Given the description of an element on the screen output the (x, y) to click on. 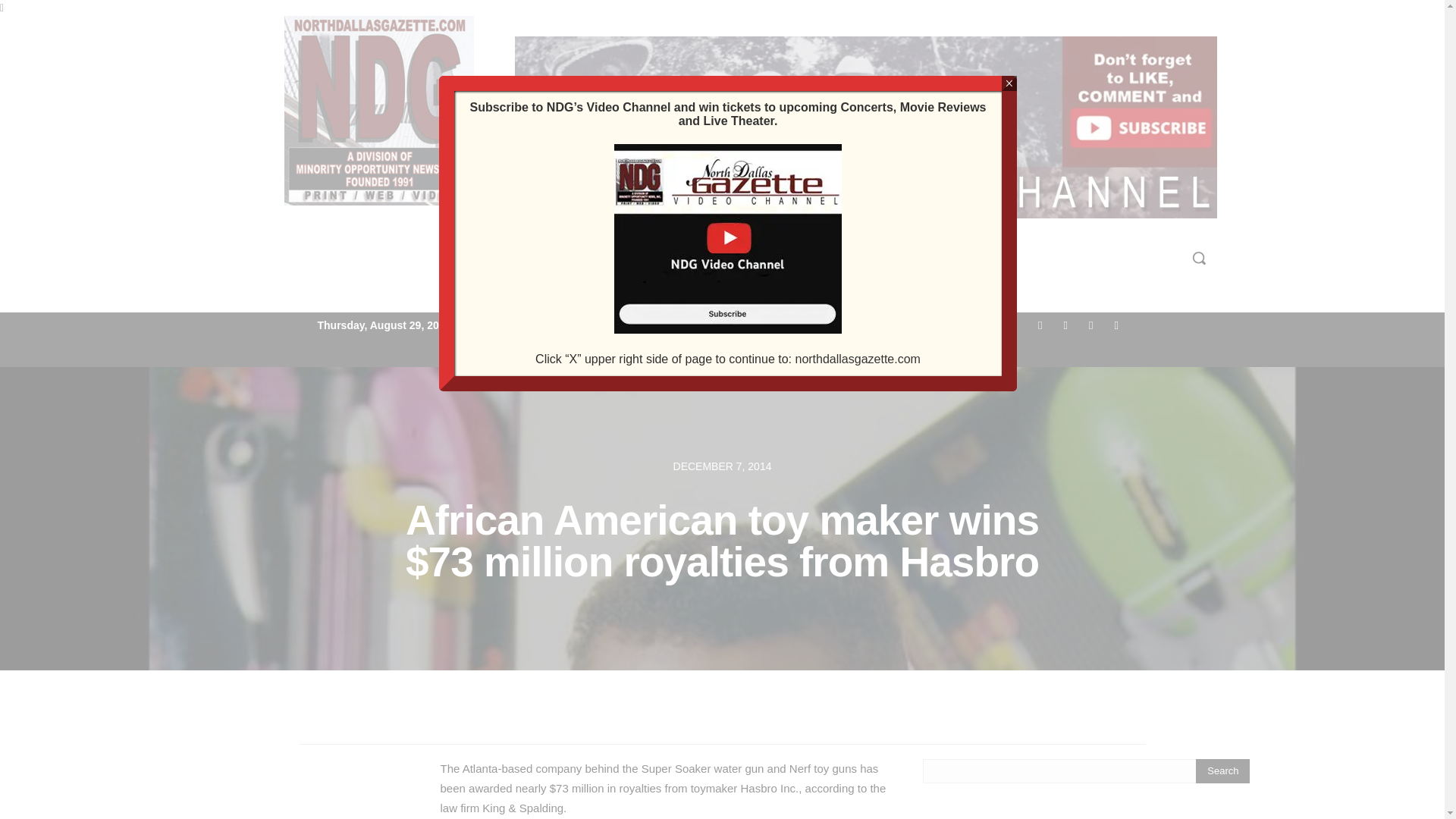
Search (1222, 770)
OBITUARIES (968, 257)
ABOUT US (693, 257)
ARCHIVES (882, 257)
Twitter (1091, 324)
ADVERTISING (789, 257)
Facebook (1040, 324)
Youtube (1115, 324)
NDG VIDEO CHANNEL (582, 257)
HOME (489, 257)
